Given the description of an element on the screen output the (x, y) to click on. 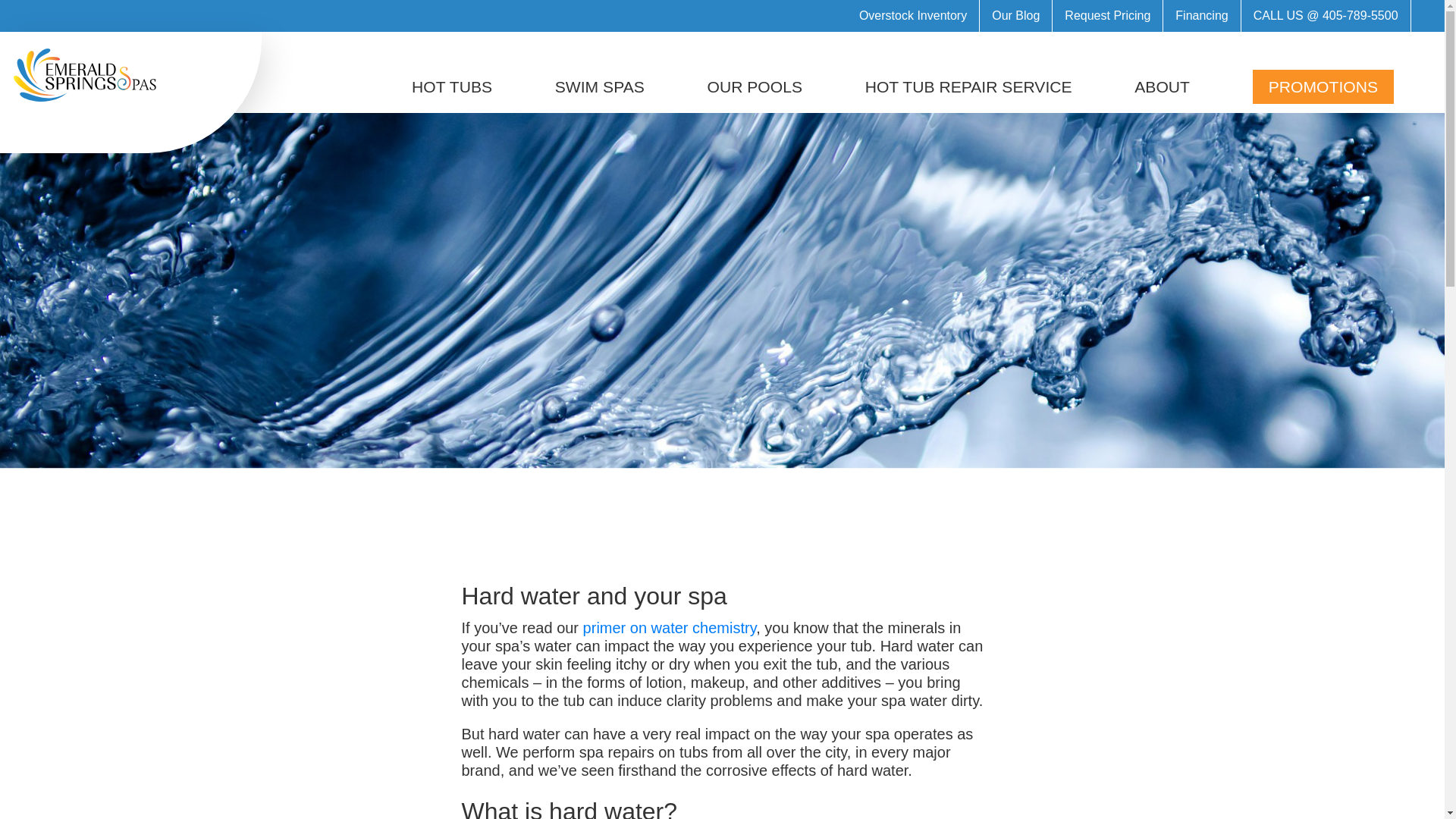
Request Pricing (1107, 15)
Our Blog (1015, 15)
Financing (1201, 15)
Overstock Inventory (913, 15)
HOT TUBS (452, 86)
